Given the description of an element on the screen output the (x, y) to click on. 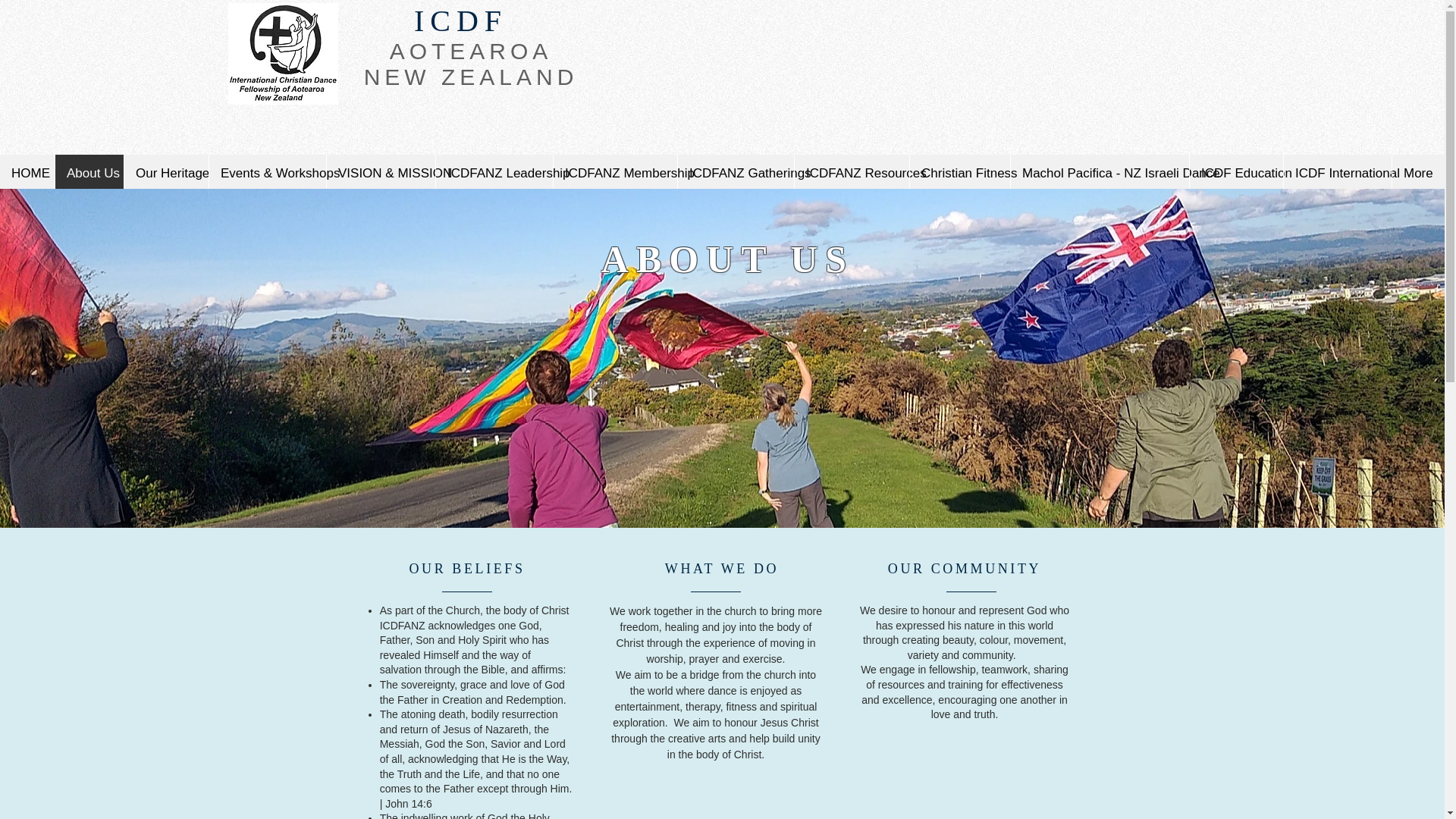
Machol Pacifica - NZ Israeli Dance (1099, 173)
Christian Fitness (959, 169)
ICDF International (1336, 169)
ICDF Education (1235, 173)
ICDFANZ Leadership (494, 173)
About Us (89, 169)
HOME (27, 169)
ICDFANZ Gatherings (735, 173)
ICDFANZ Resources (850, 173)
Christian Fitness (959, 173)
ICDFANZ Resources (850, 169)
ICDF International (1336, 173)
ICDFANZ Gatherings (735, 169)
ICDF (459, 20)
Machol Pacifica - NZ Israeli Dance (1099, 169)
